Given the description of an element on the screen output the (x, y) to click on. 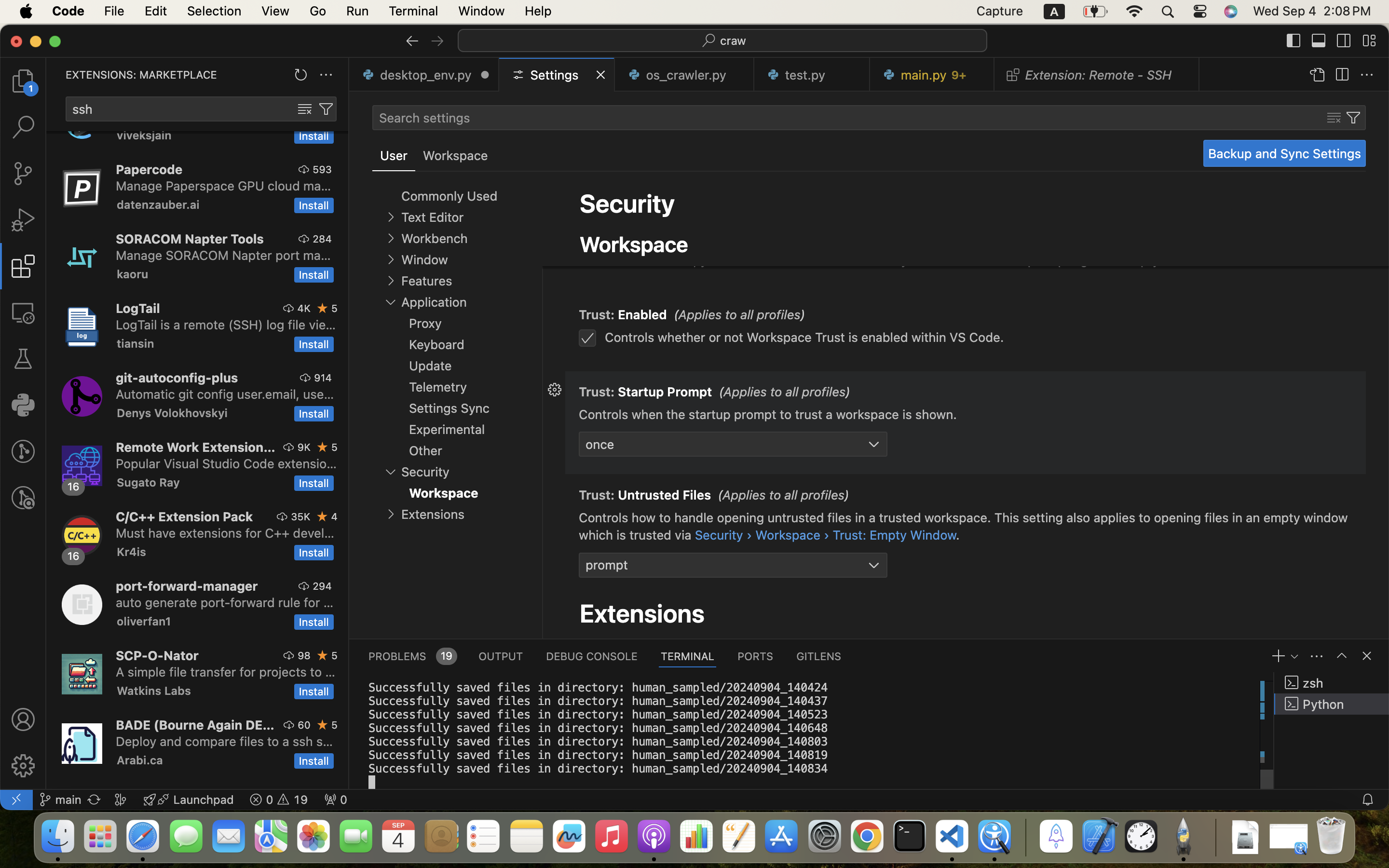
0.4285714328289032 Element type: AXDockItem (1024, 836)
 Element type: AXStaticText (1366, 74)
 Element type: AXStaticText (390, 216)
Keyboard Element type: AXStaticText (436, 344)
Arabi.ca Element type: AXStaticText (139, 759)
